Given the description of an element on the screen output the (x, y) to click on. 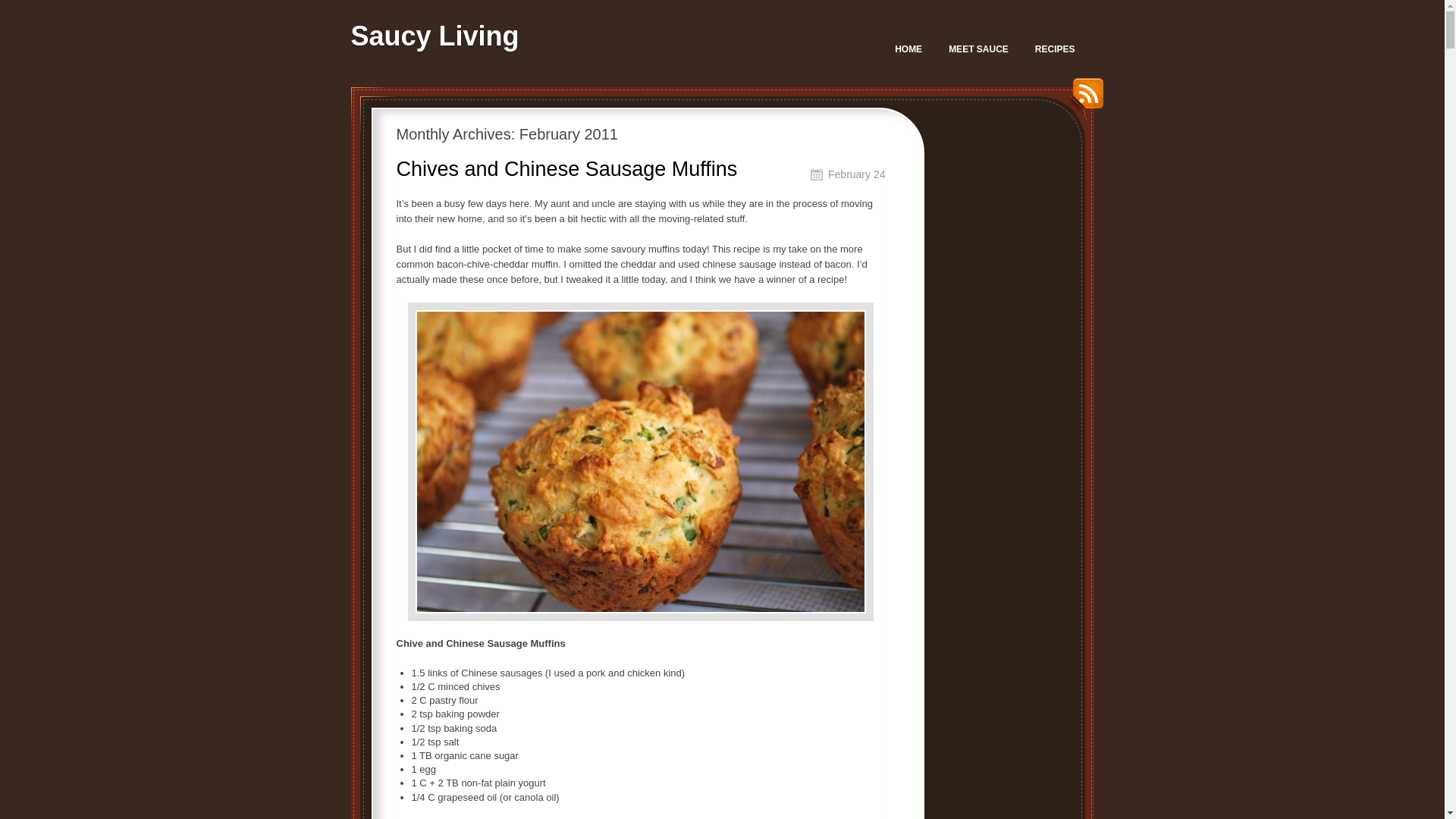
RECIPES (1055, 48)
Saucy Living (434, 35)
Chives and Chinese Sausage Muffins (566, 169)
RSS (1083, 98)
Saucy Living (434, 35)
HOME (908, 48)
Permalink to Chives and Chinese Sausage Muffins (856, 174)
February 24 (856, 174)
MEET SAUCE (978, 48)
